Given the description of an element on the screen output the (x, y) to click on. 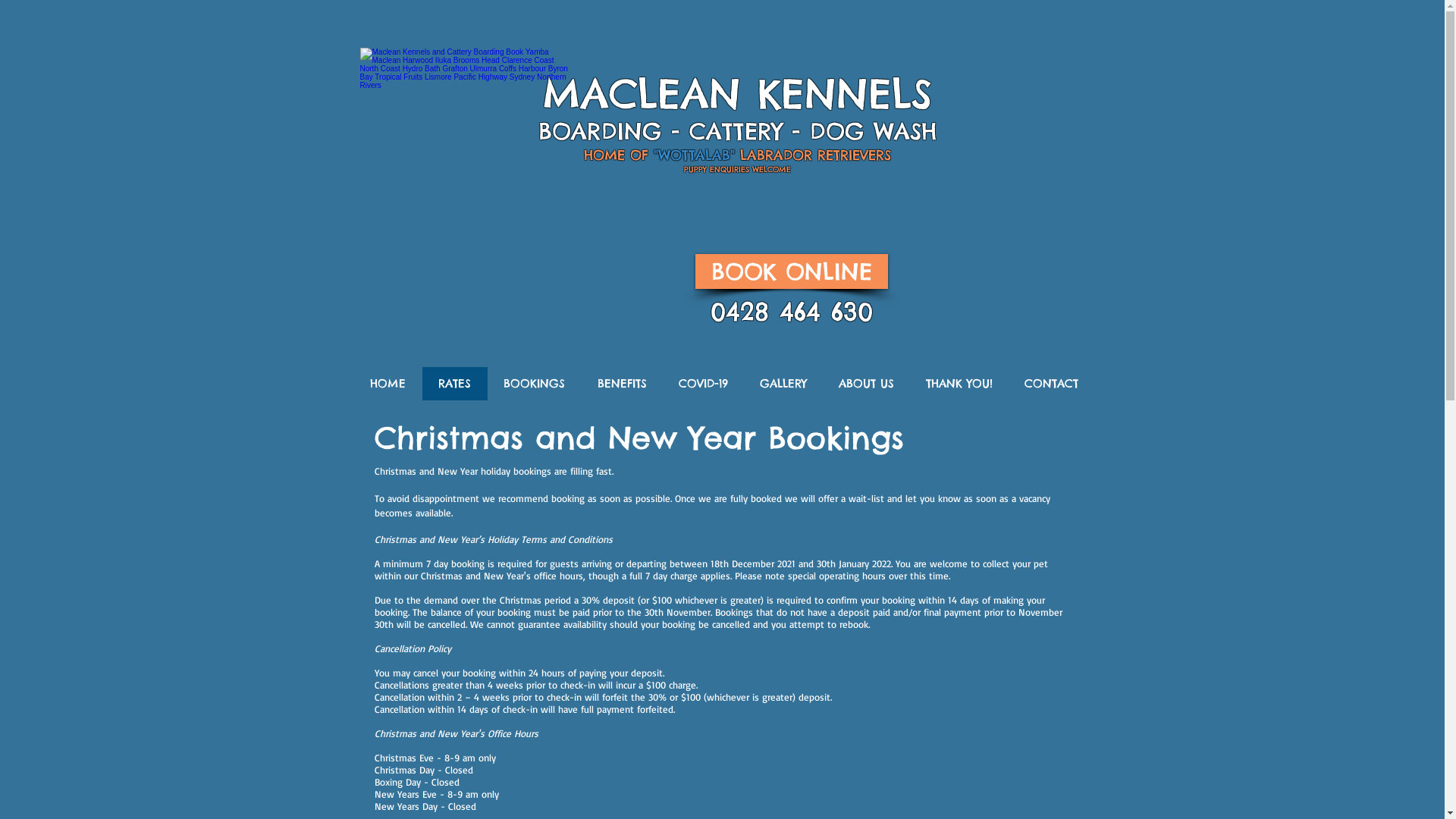
HOME Element type: text (387, 383)
COVID-19 Element type: text (702, 383)
BENEFITS Element type: text (621, 383)
Maclean Kennels and Cattery Element type: hover (464, 125)
GALLERY Element type: text (782, 383)
BOOKINGS Element type: text (533, 383)
CONTACT Element type: text (1051, 383)
RATES Element type: text (453, 383)
BOOK ONLINE Element type: text (790, 271)
THANK YOU! Element type: text (959, 383)
ABOUT US Element type: text (865, 383)
